Given the description of an element on the screen output the (x, y) to click on. 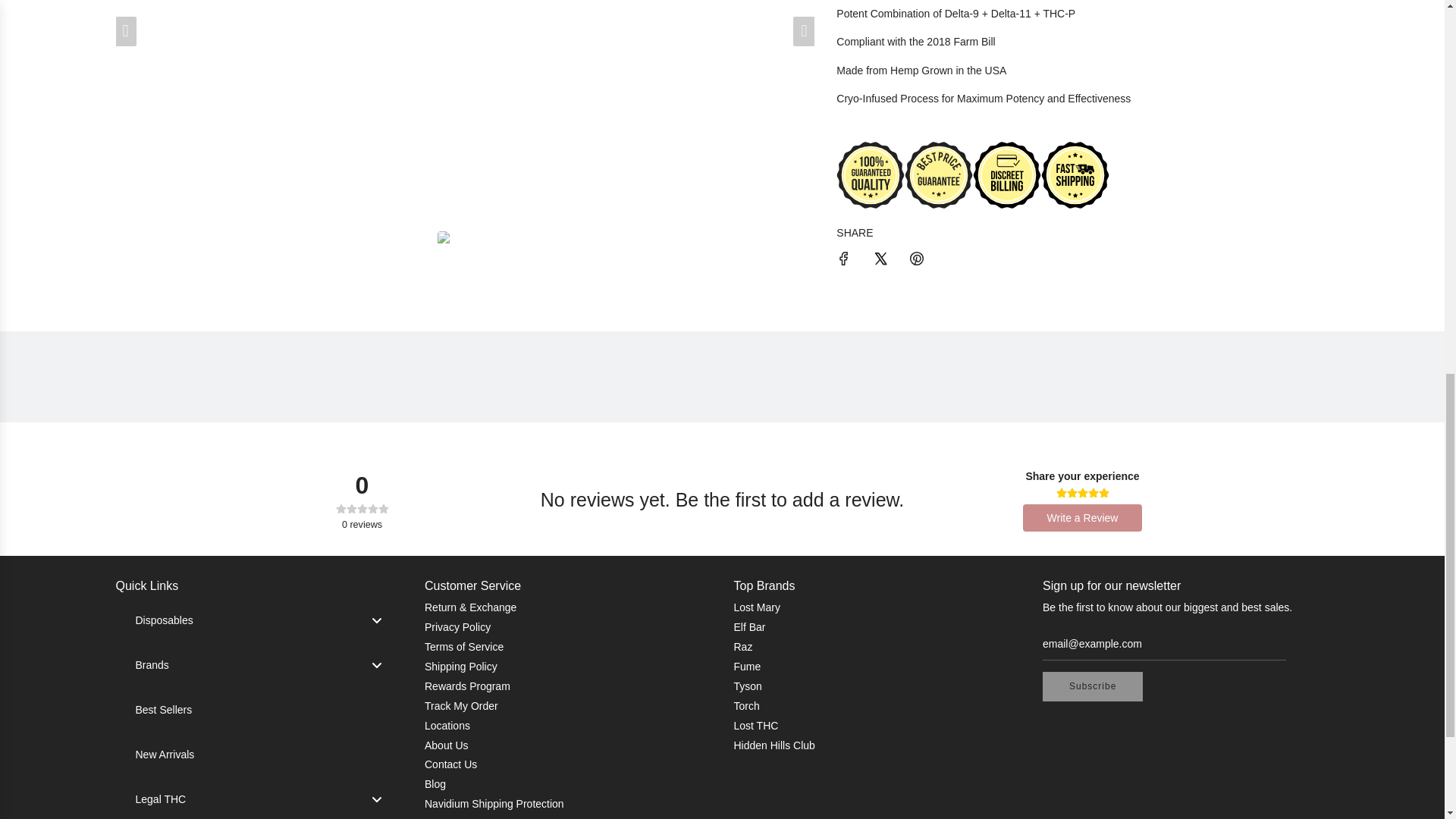
Toggle menu (376, 620)
Toggle menu (376, 798)
Toggle menu (376, 665)
